Given the description of an element on the screen output the (x, y) to click on. 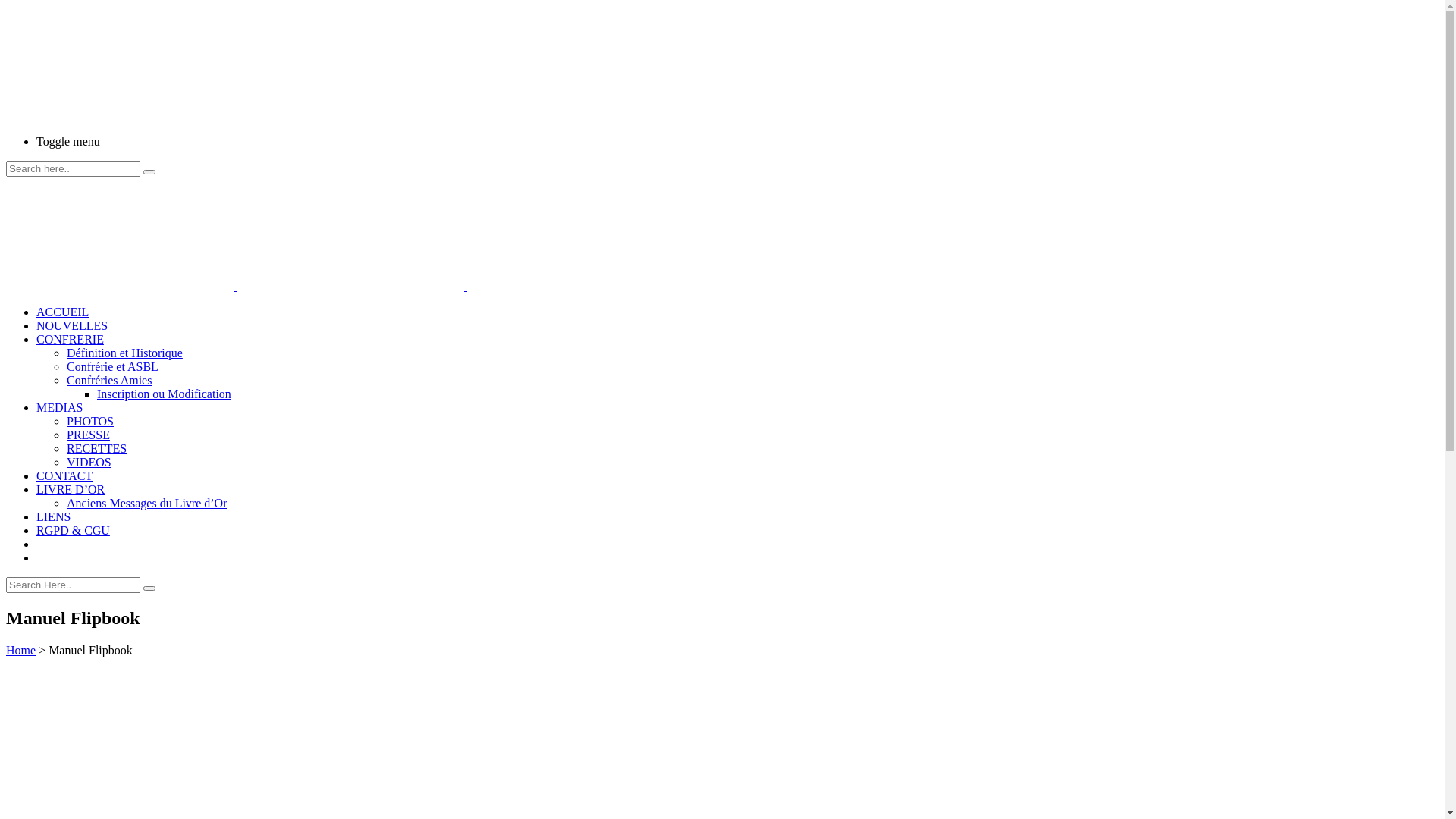
LIENS Element type: text (53, 516)
PHOTOS Element type: text (89, 420)
MEDIAS Element type: text (59, 407)
RGPD & CGU Element type: text (72, 530)
Toggle menu Element type: text (737, 141)
CONTACT Element type: text (64, 475)
ACCUEIL Element type: text (62, 311)
NOUVELLES Element type: text (71, 325)
VIDEOS Element type: text (88, 461)
RECETTES Element type: text (96, 448)
Home Element type: text (20, 649)
Inscription ou Modification Element type: text (164, 393)
CONFRERIE Element type: text (69, 338)
PRESSE Element type: text (87, 434)
